Given the description of an element on the screen output the (x, y) to click on. 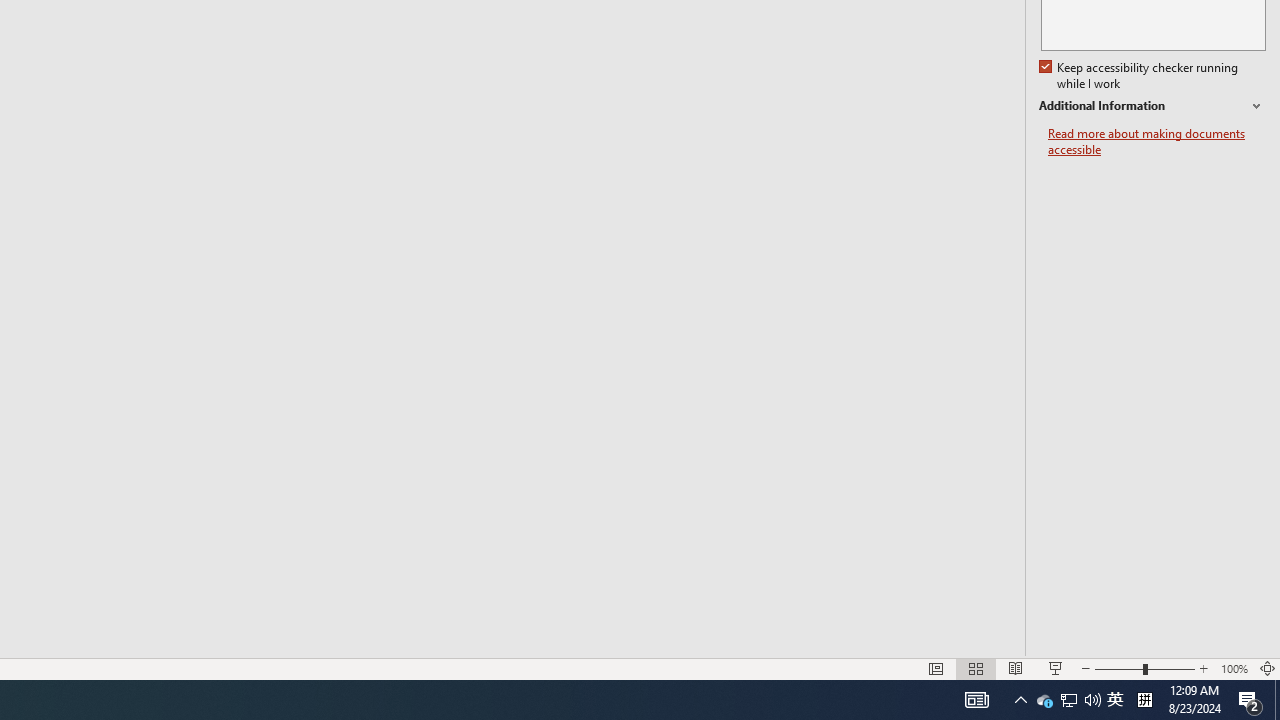
Zoom 100% (1234, 668)
